Given the description of an element on the screen output the (x, y) to click on. 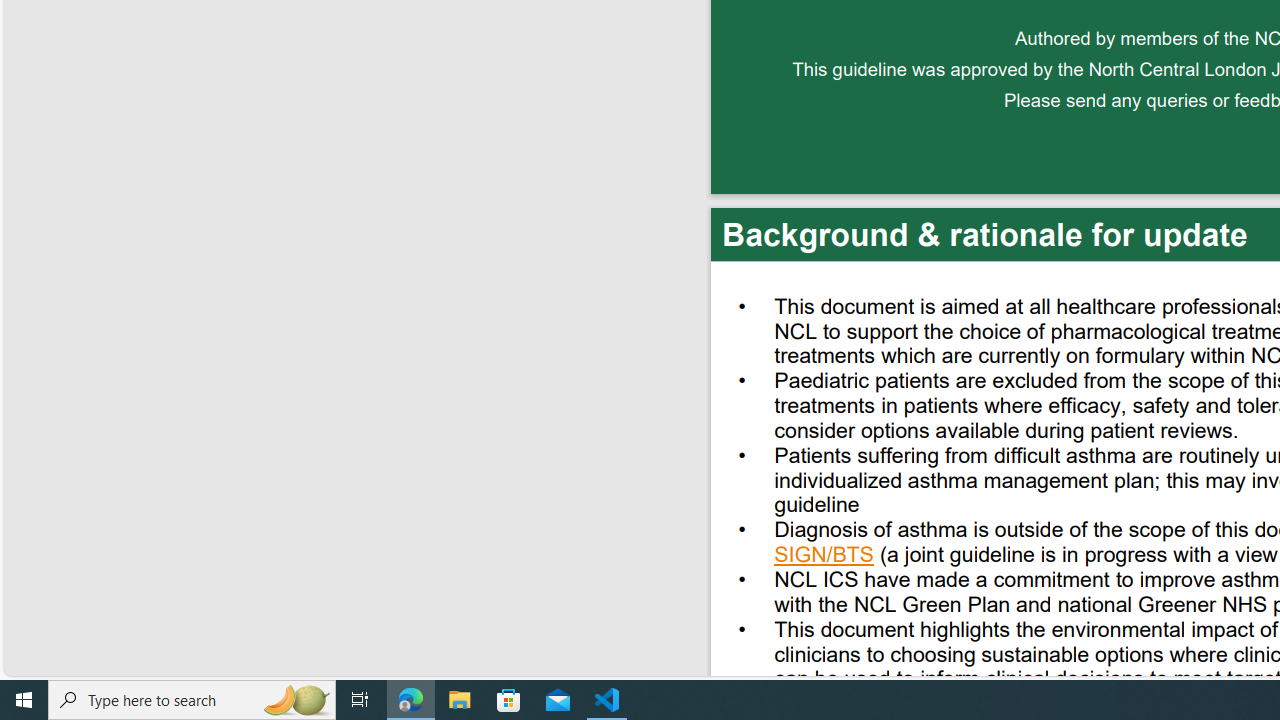
SIGN/BTS (824, 557)
